Given the description of an element on the screen output the (x, y) to click on. 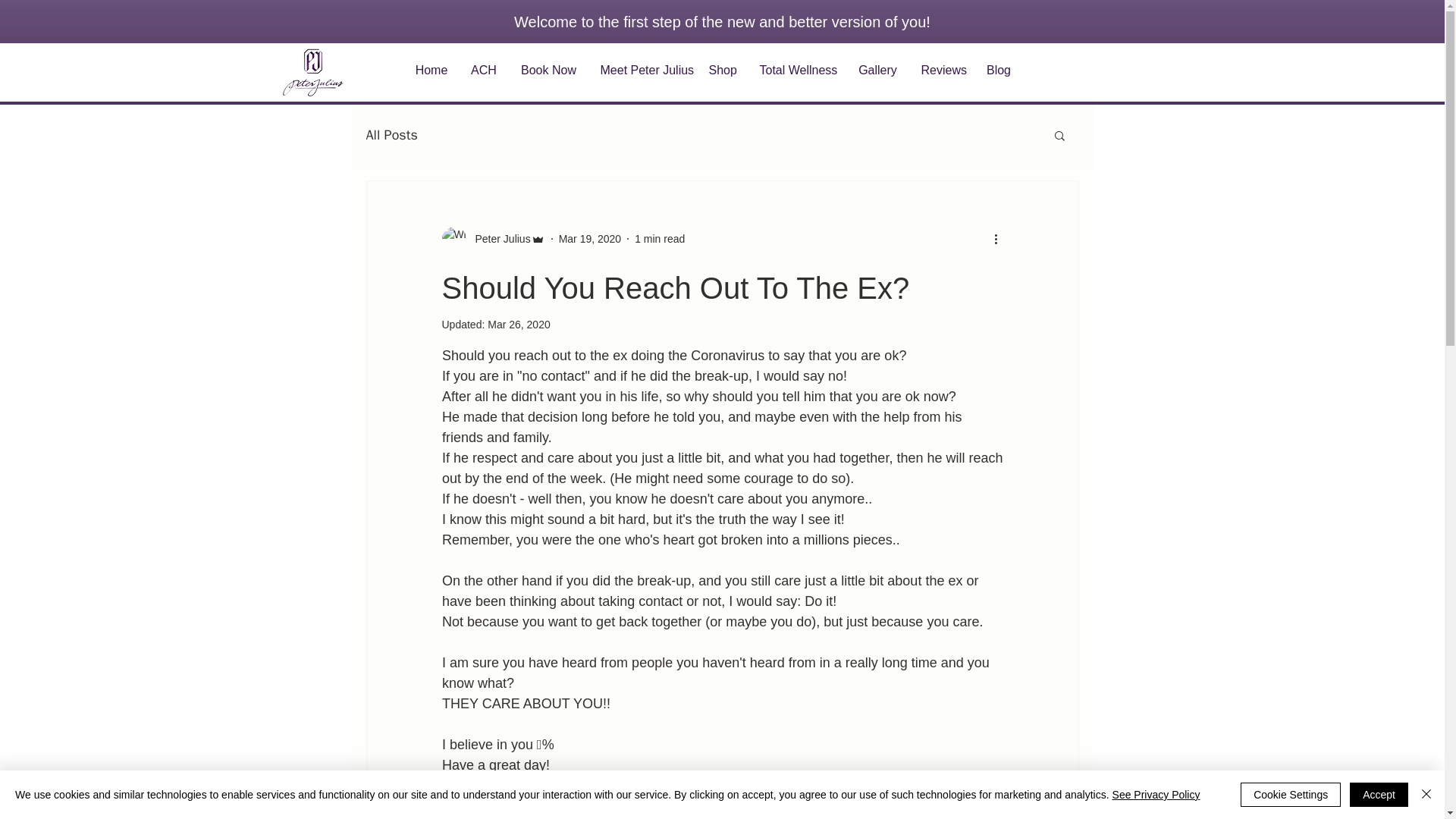
Mar 26, 2020 (518, 324)
ACH (484, 70)
Reviews (942, 70)
1 min read (659, 237)
Peter Julius (497, 238)
All Posts (390, 135)
See Privacy Policy (1155, 794)
Meet Peter Julius (642, 70)
Cookie Settings (1290, 794)
Blog (999, 70)
Book Now (548, 70)
Peter Julius (492, 238)
Gallery (877, 70)
Accept (1378, 794)
Total Wellness (796, 70)
